Given the description of an element on the screen output the (x, y) to click on. 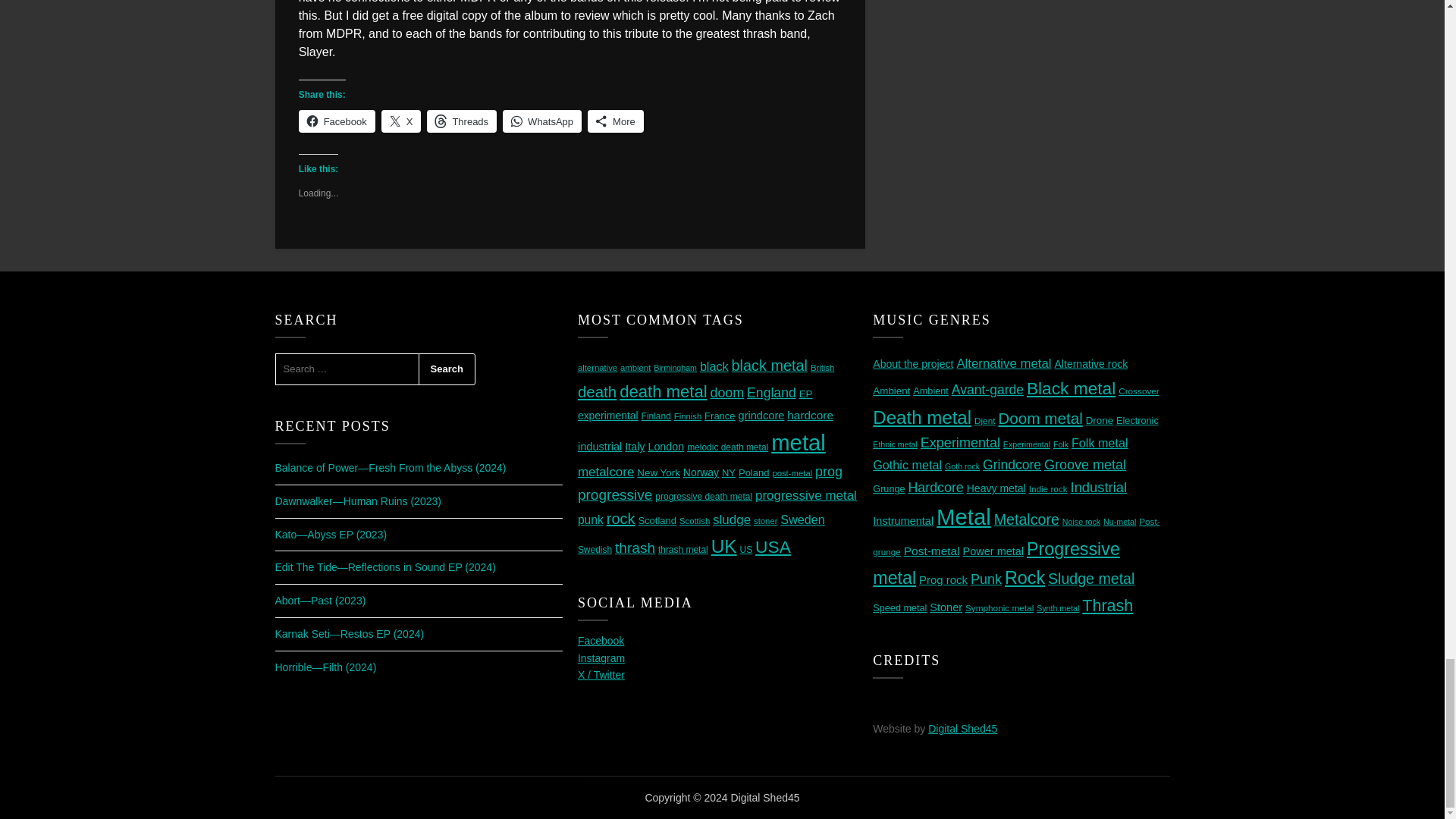
Search (447, 368)
Click to share on Threads (461, 120)
X (401, 120)
Click to share on Facebook (336, 120)
WhatsApp (541, 120)
Search (447, 368)
Click to share on WhatsApp (541, 120)
More (615, 120)
Click to share on X (401, 120)
Facebook (336, 120)
